Given the description of an element on the screen output the (x, y) to click on. 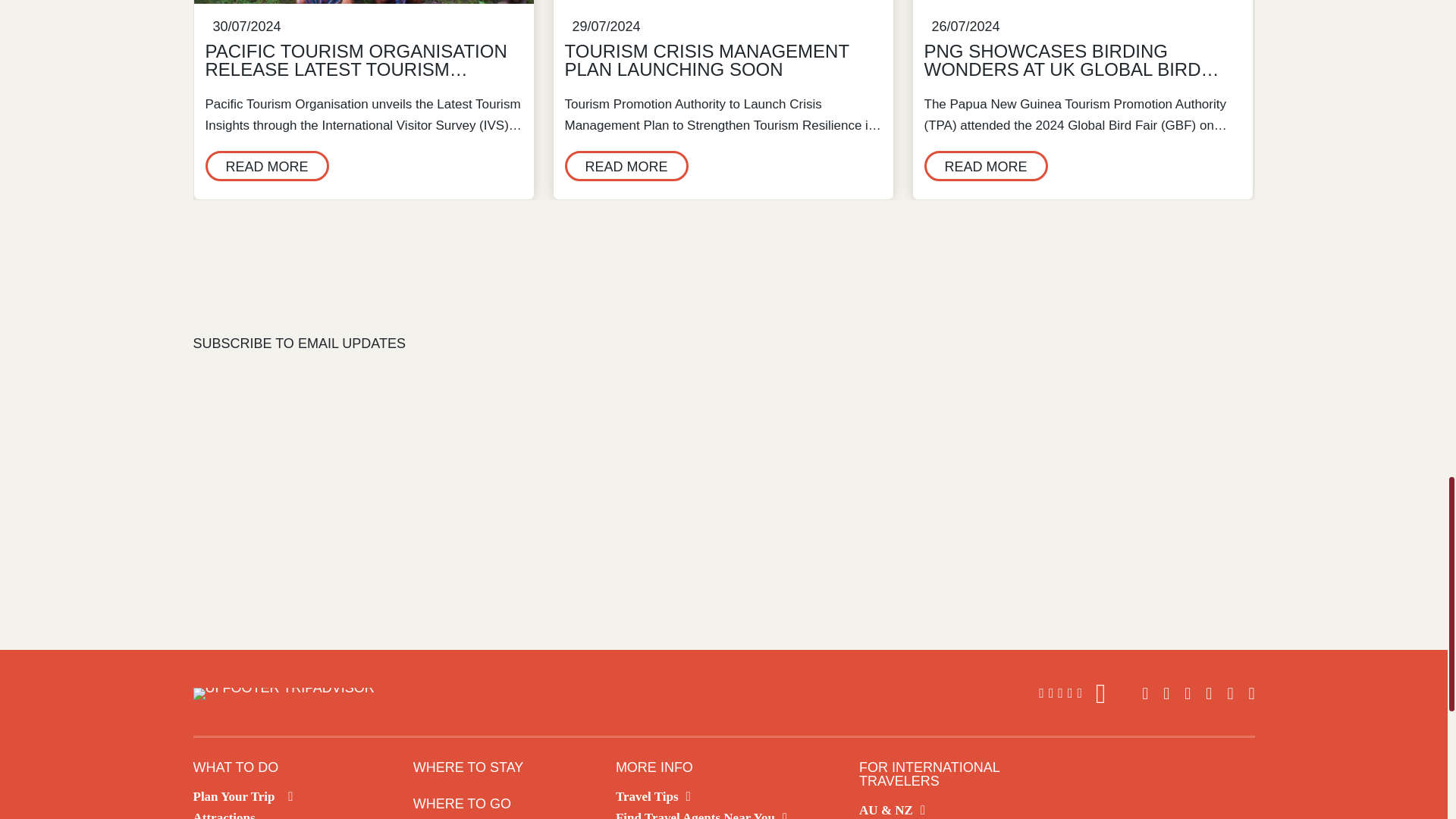
Google Reviews (1072, 693)
